Given the description of an element on the screen output the (x, y) to click on. 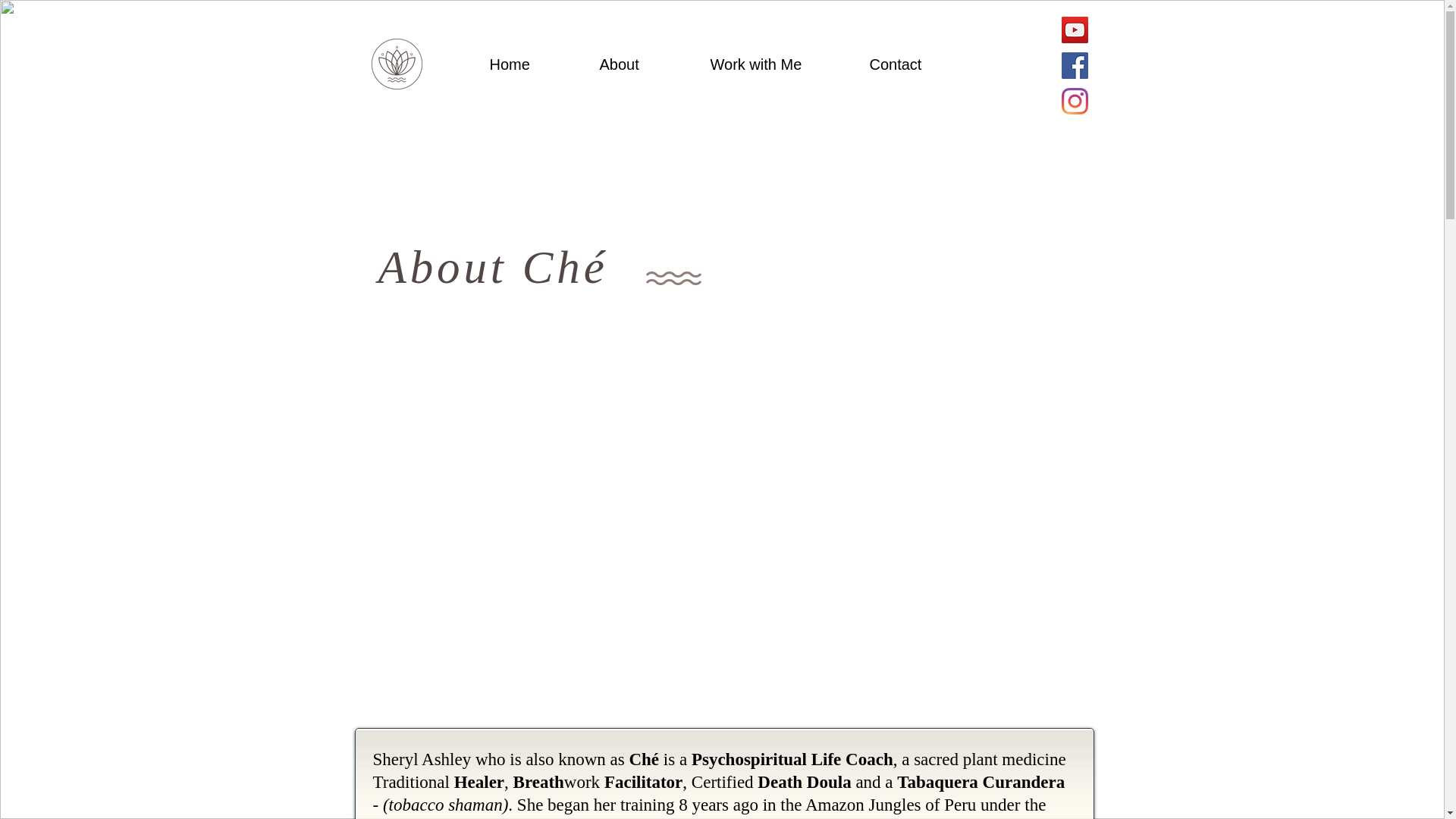
Work with Me (778, 64)
Contact (919, 64)
LIGHTSPATH (263, 58)
About (643, 64)
Home (532, 64)
